Given the description of an element on the screen output the (x, y) to click on. 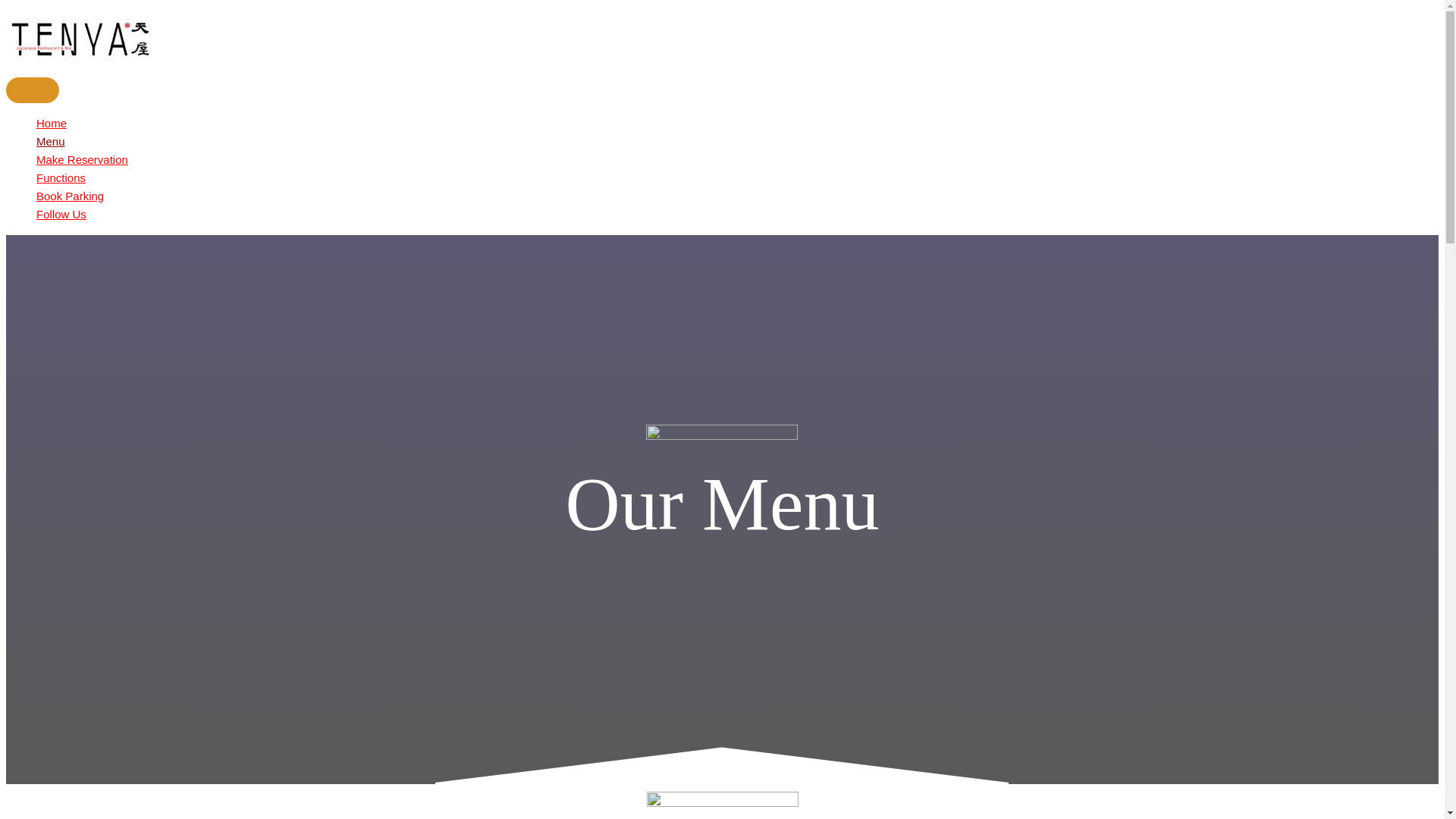
Follow Us Element type: text (491, 214)
Make Reservation Element type: text (491, 159)
Menu Element type: text (491, 141)
Book Parking Element type: text (491, 196)
Home Element type: text (491, 123)
Functions Element type: text (491, 178)
